Given the description of an element on the screen output the (x, y) to click on. 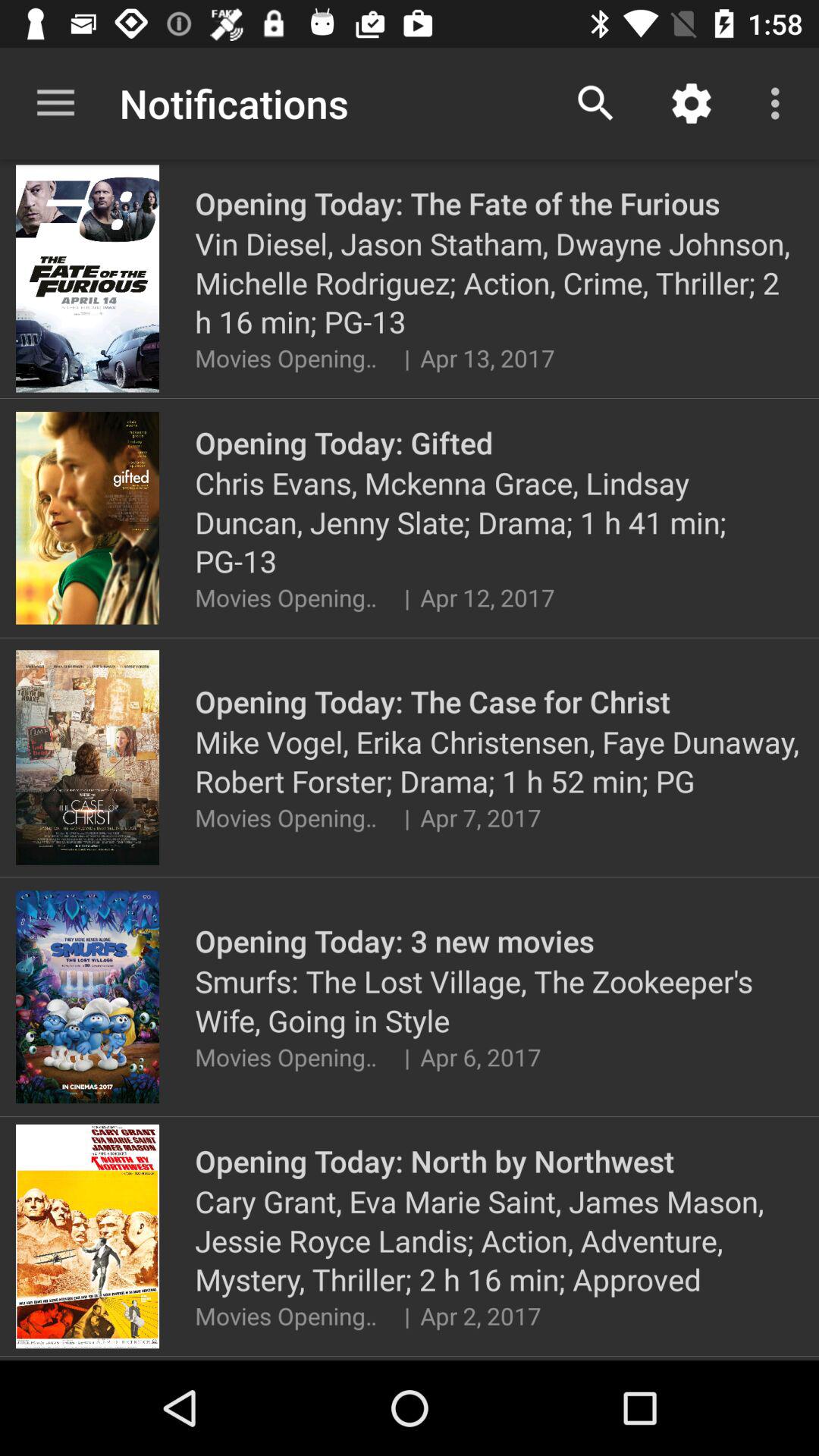
press | item (407, 357)
